Given the description of an element on the screen output the (x, y) to click on. 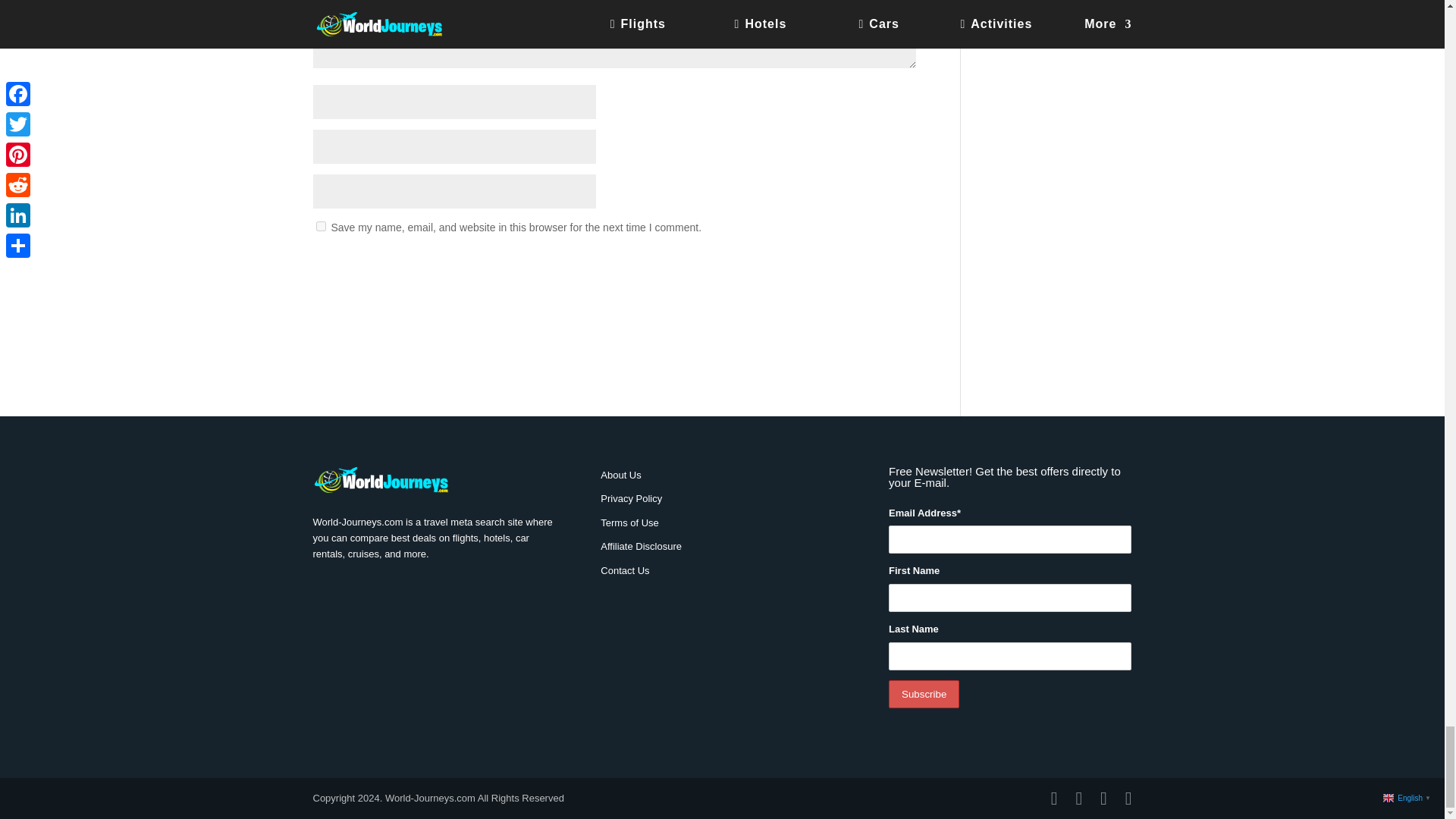
Submit Comment (840, 266)
Subscribe (923, 694)
yes (319, 225)
